Given the description of an element on the screen output the (x, y) to click on. 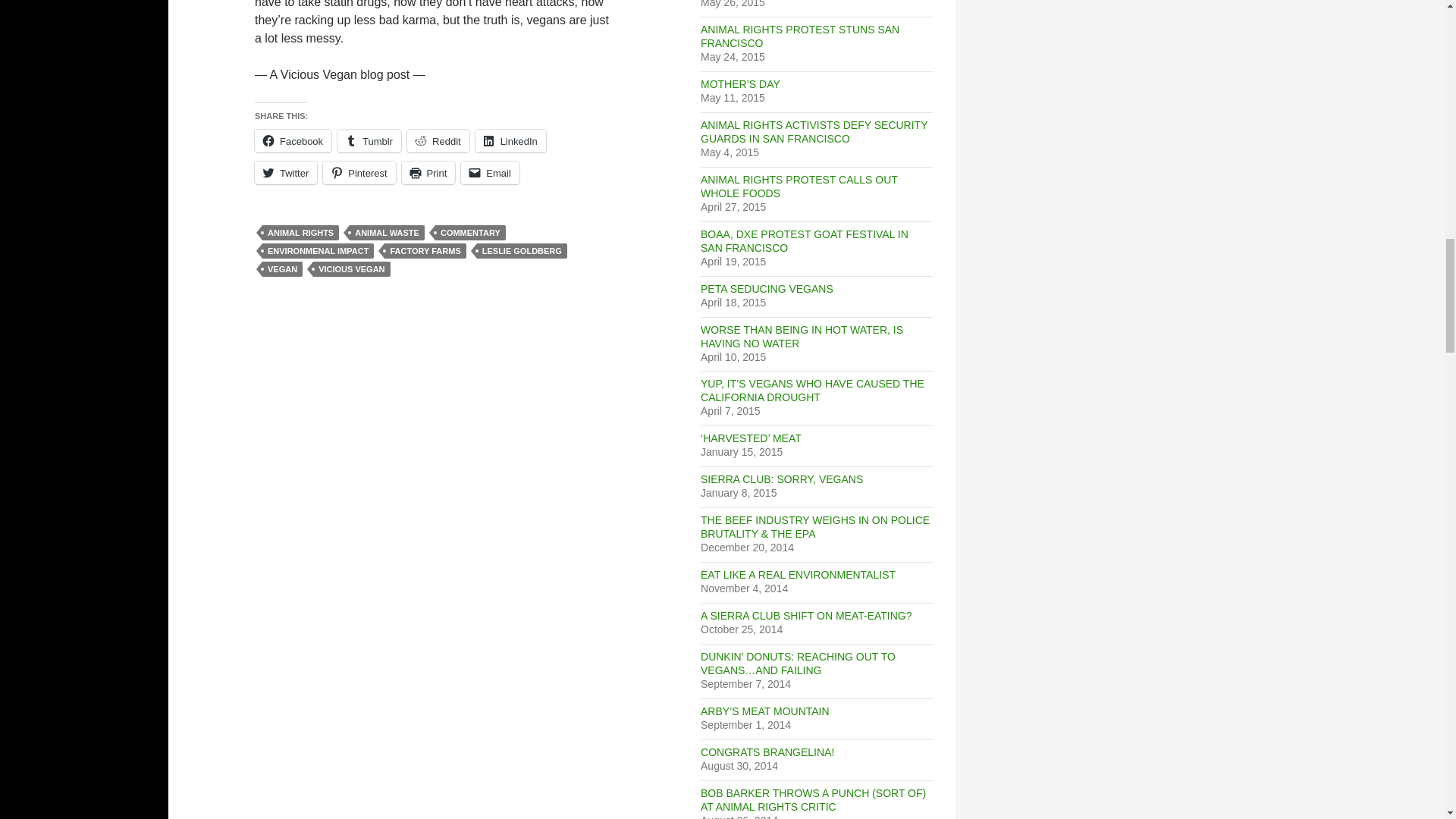
Click to share on Tumblr (369, 140)
FACTORY FARMS (424, 250)
Reddit (437, 140)
Tumblr (369, 140)
Click to share on Facebook (292, 140)
VICIOUS VEGAN (351, 268)
Facebook (292, 140)
ENVIRONMENAL IMPACT (318, 250)
Click to share on Twitter (285, 172)
Twitter (285, 172)
